Given the description of an element on the screen output the (x, y) to click on. 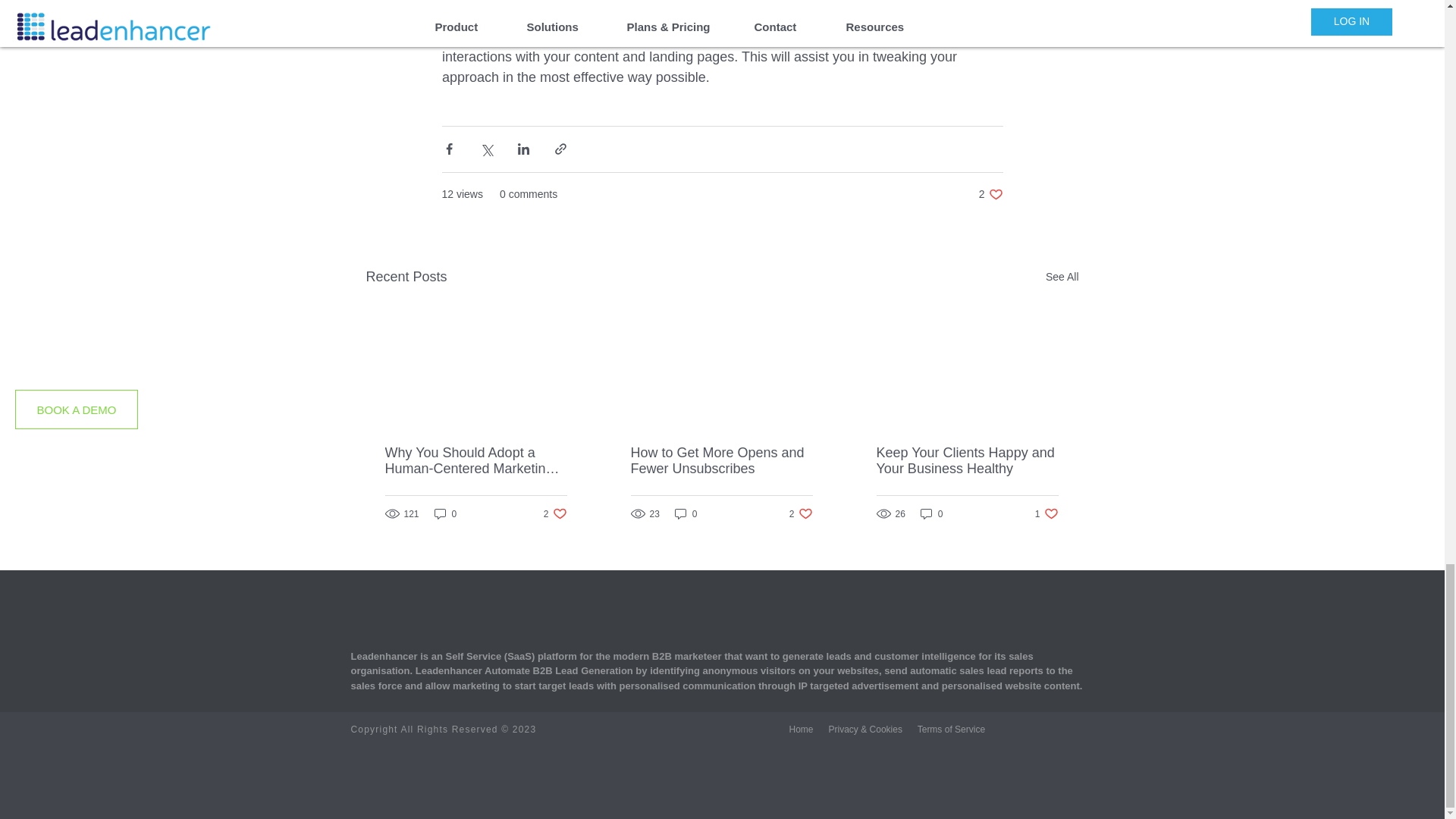
How to Get More Opens and Fewer Unsubscribes (721, 460)
Why You Should Adopt a Human-Centered Marketing Approach (476, 460)
See All (1046, 513)
0 (800, 513)
Terms of Service (555, 513)
Home (1061, 277)
0 (931, 513)
Keep Your Clients Happy and Your Business Healthy (951, 728)
0 (800, 728)
